Given the description of an element on the screen output the (x, y) to click on. 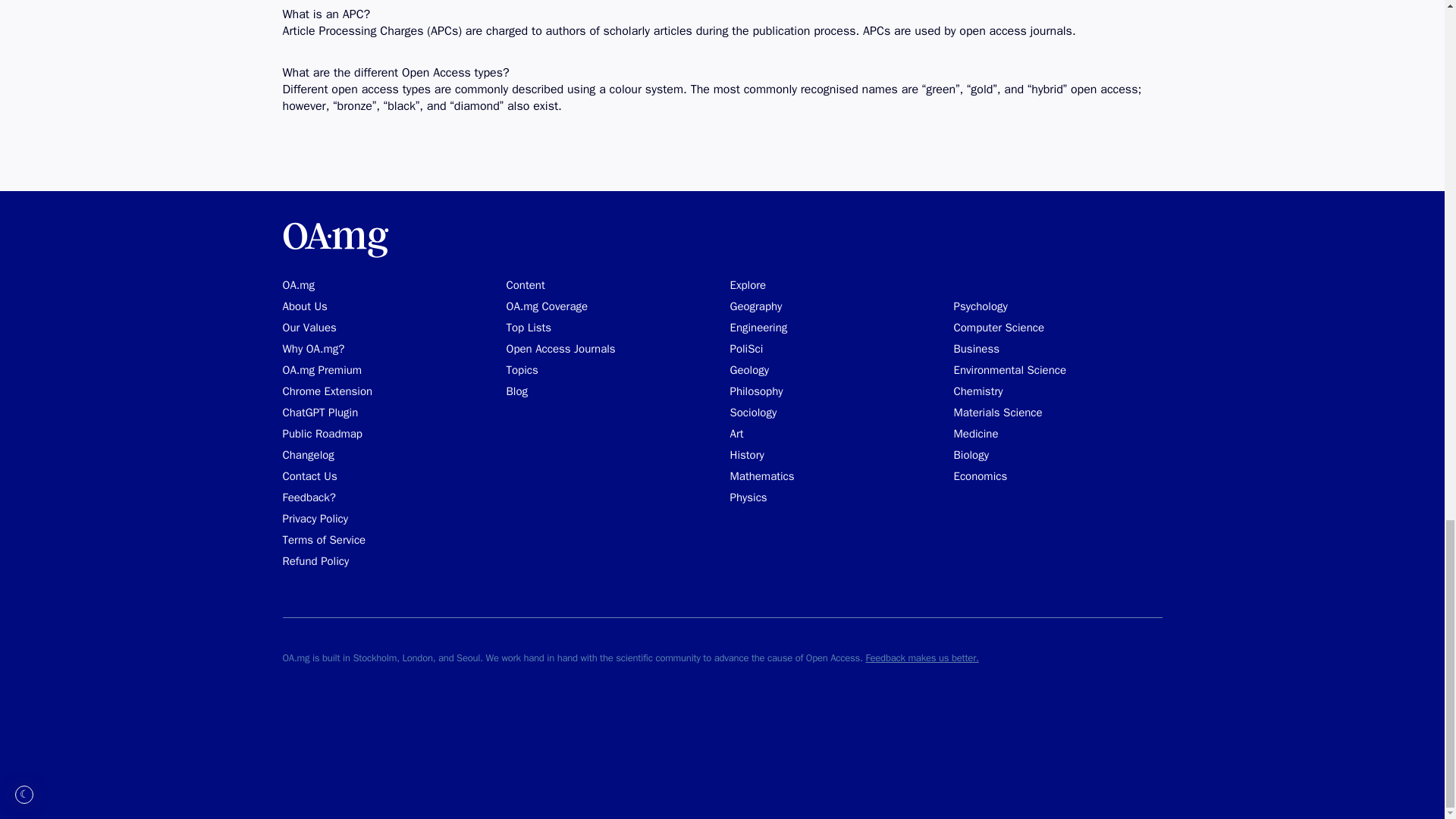
Our Values (309, 327)
About Us (304, 305)
Chrome Extension (327, 391)
OA.mg Premium (321, 369)
ChatGPT Plugin (320, 412)
Why OA.mg? (312, 348)
